Given the description of an element on the screen output the (x, y) to click on. 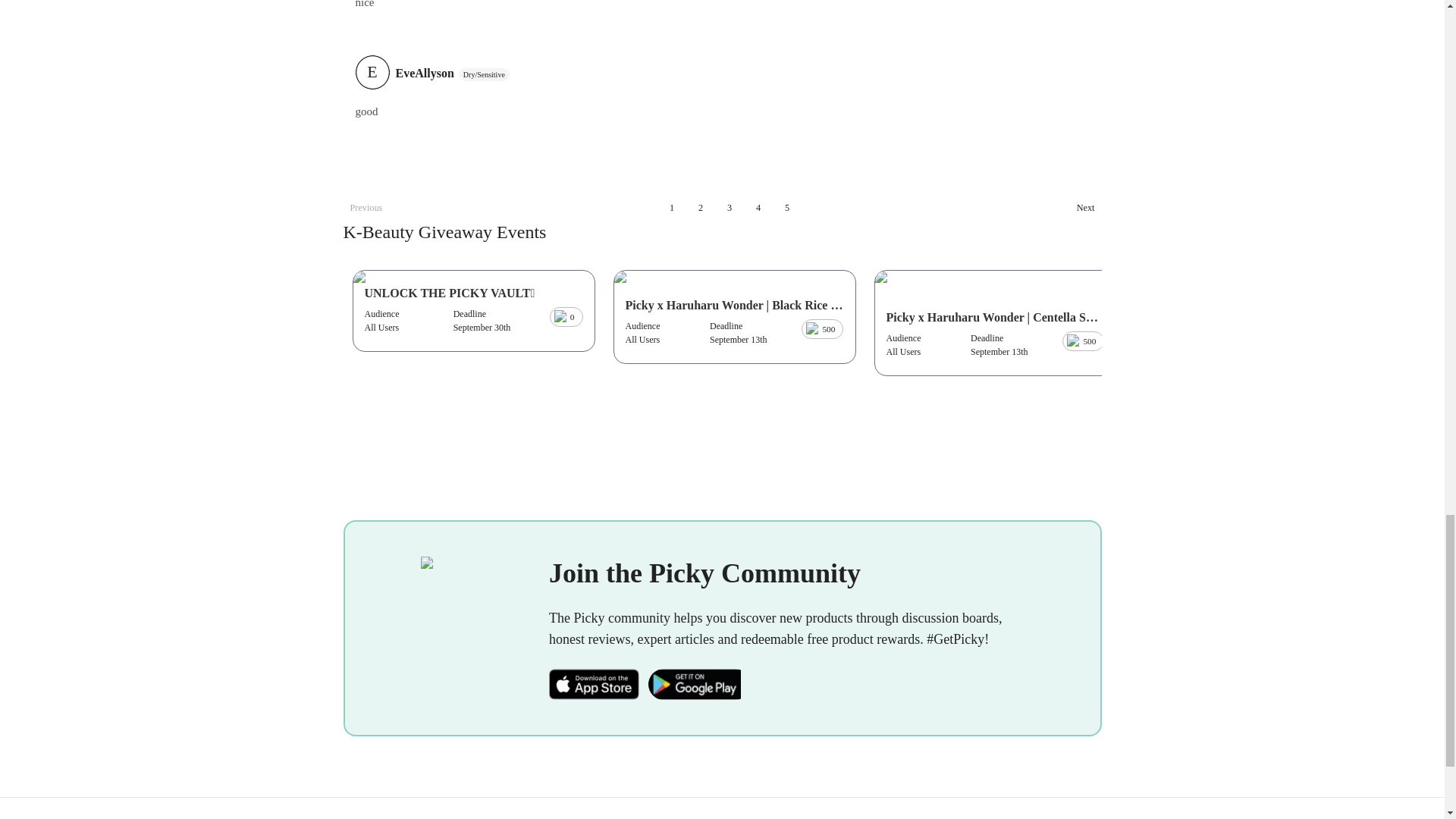
4 (757, 207)
5 (786, 207)
1 (671, 207)
2 (700, 207)
3 (729, 207)
